Given the description of an element on the screen output the (x, y) to click on. 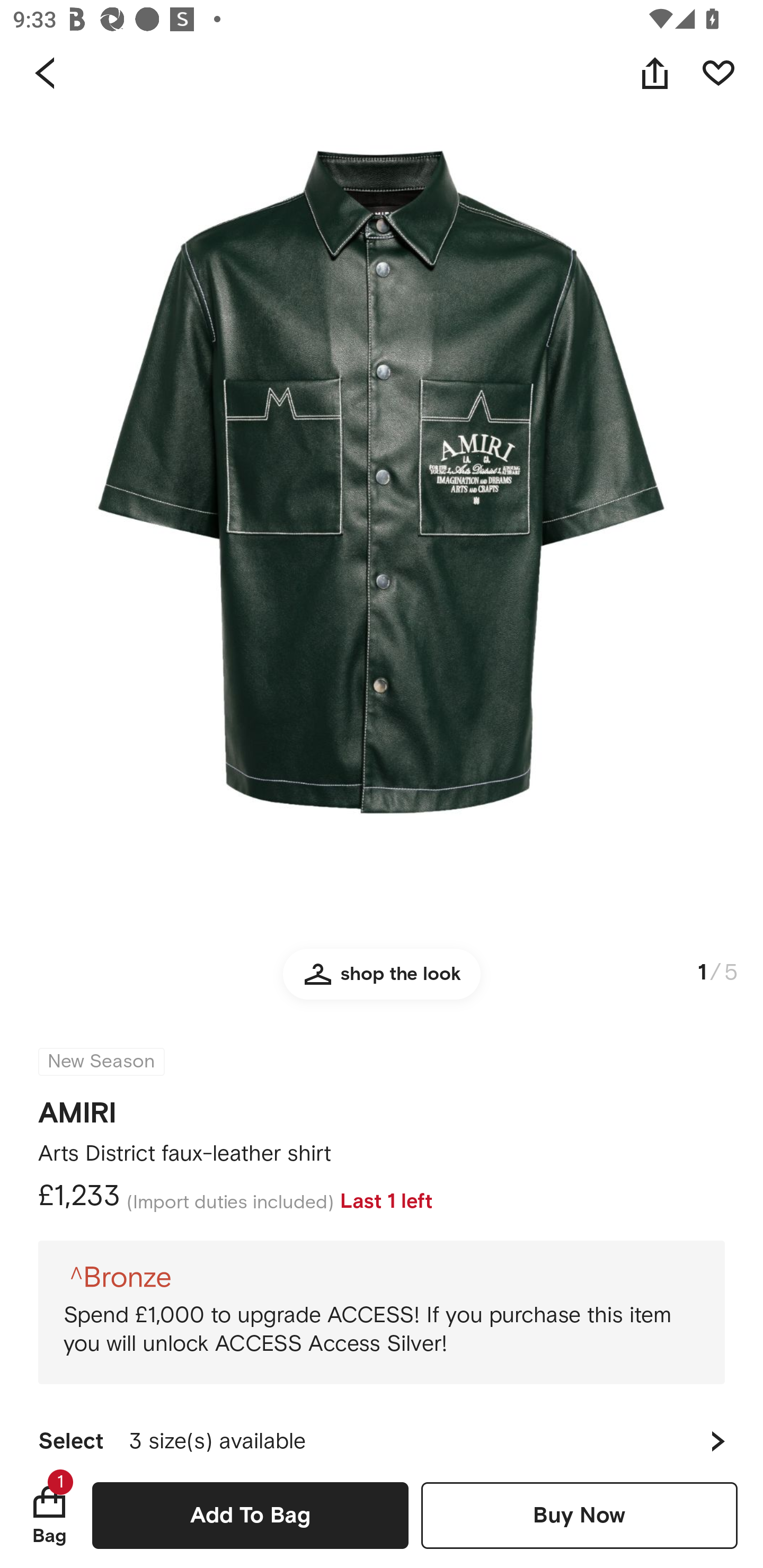
shop the look (381, 982)
AMIRI (77, 1107)
Select 3 size(s) available (381, 1432)
Bag 1 (49, 1515)
Add To Bag (250, 1515)
Buy Now (579, 1515)
